Given the description of an element on the screen output the (x, y) to click on. 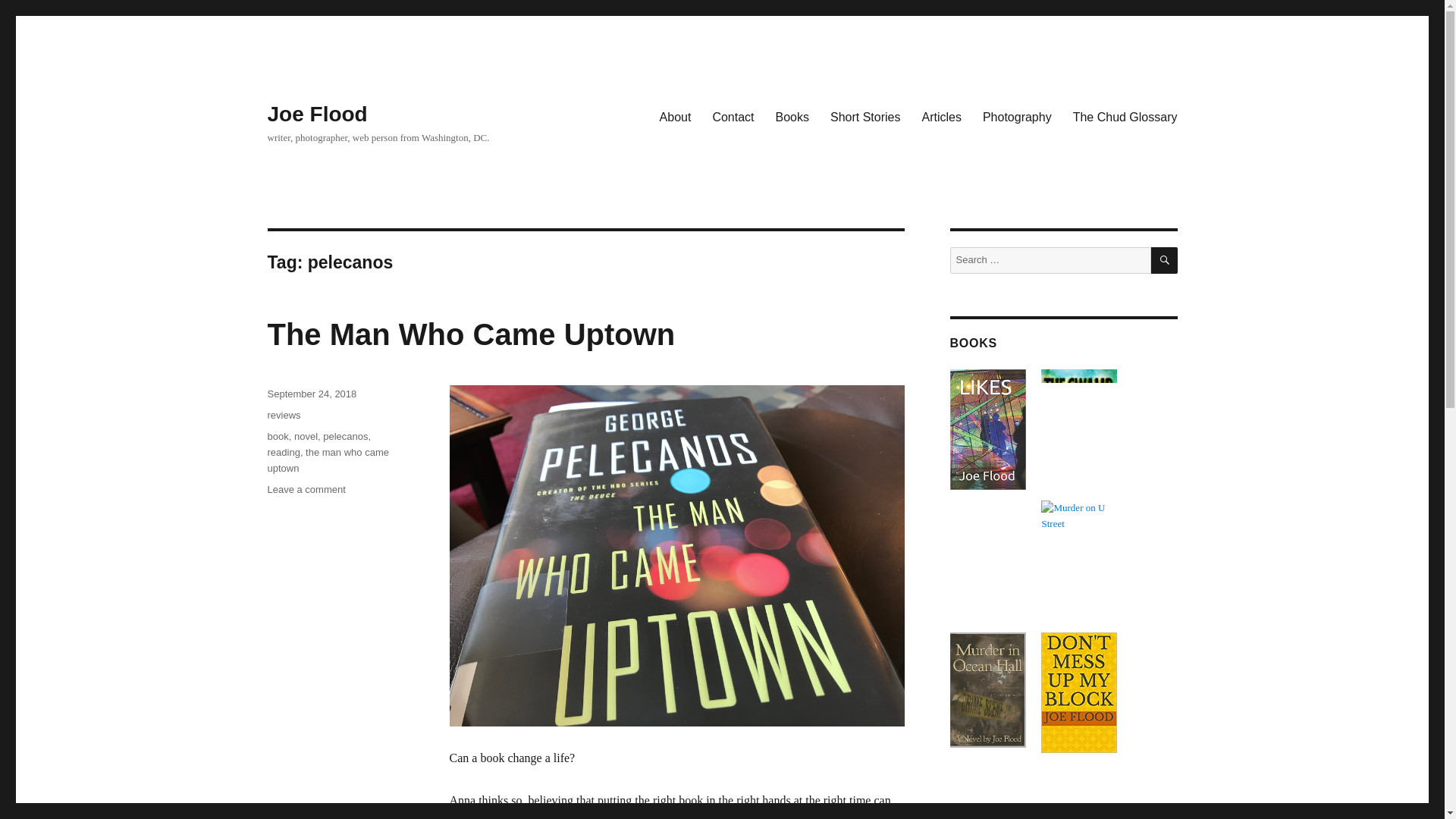
Photography (1017, 116)
novel (305, 436)
pelecanos (345, 436)
About (675, 116)
reviews (282, 414)
SEARCH (1164, 260)
Articles (941, 116)
reading (282, 451)
September 24, 2018 (311, 393)
The Chud Glossary (305, 489)
Contact (1125, 116)
Short Stories (732, 116)
the man who came uptown (865, 116)
The Man Who Came Uptown (327, 460)
